Given the description of an element on the screen output the (x, y) to click on. 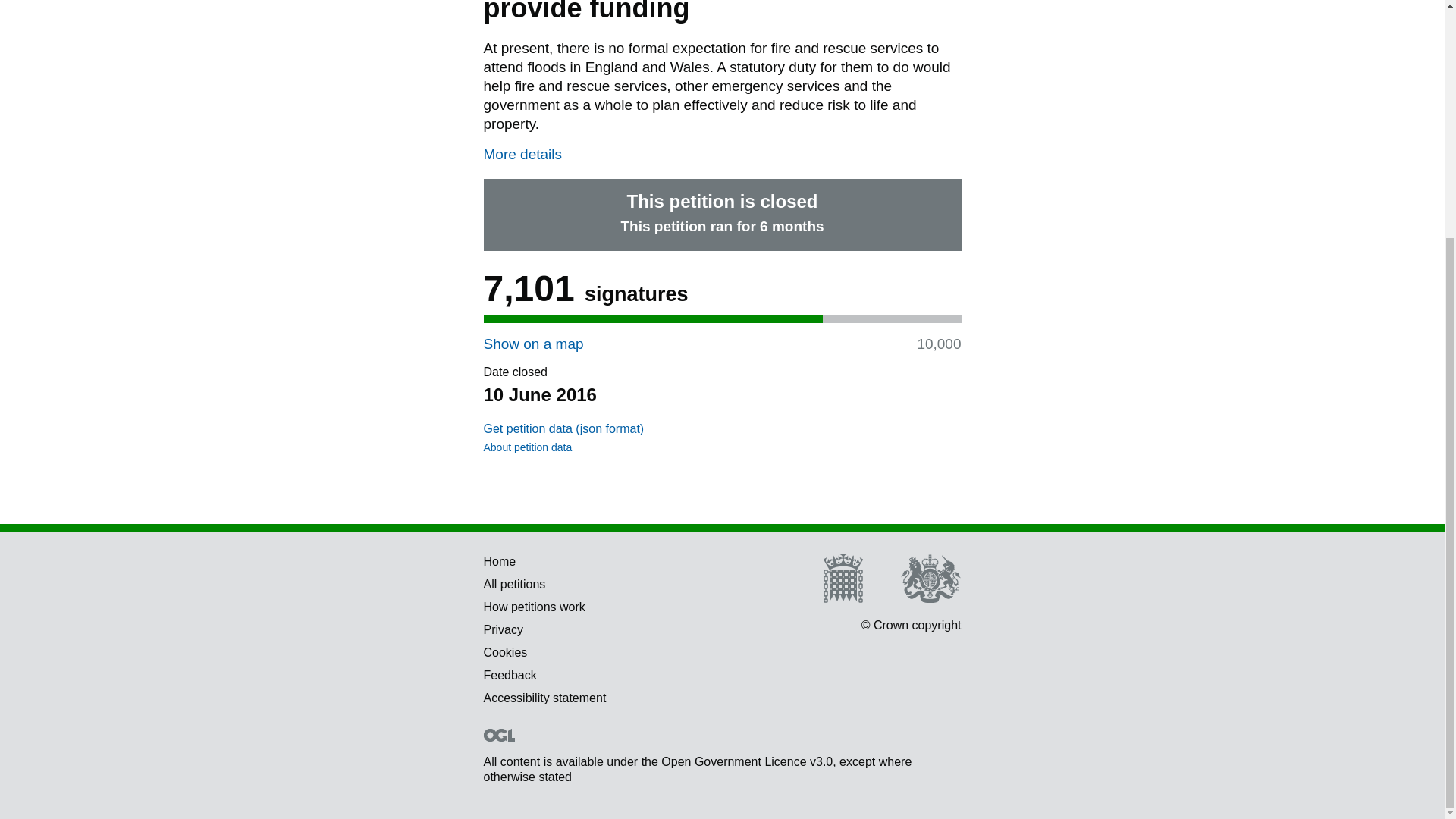
Open Government Licence (499, 735)
Privacy (502, 629)
Open Government Licence v3.0 (746, 761)
All petitions (514, 584)
Home (499, 561)
Cookies (505, 652)
Accessibility statement (545, 697)
How petitions work (534, 606)
Feedback (510, 675)
Show on a map (533, 343)
